Given the description of an element on the screen output the (x, y) to click on. 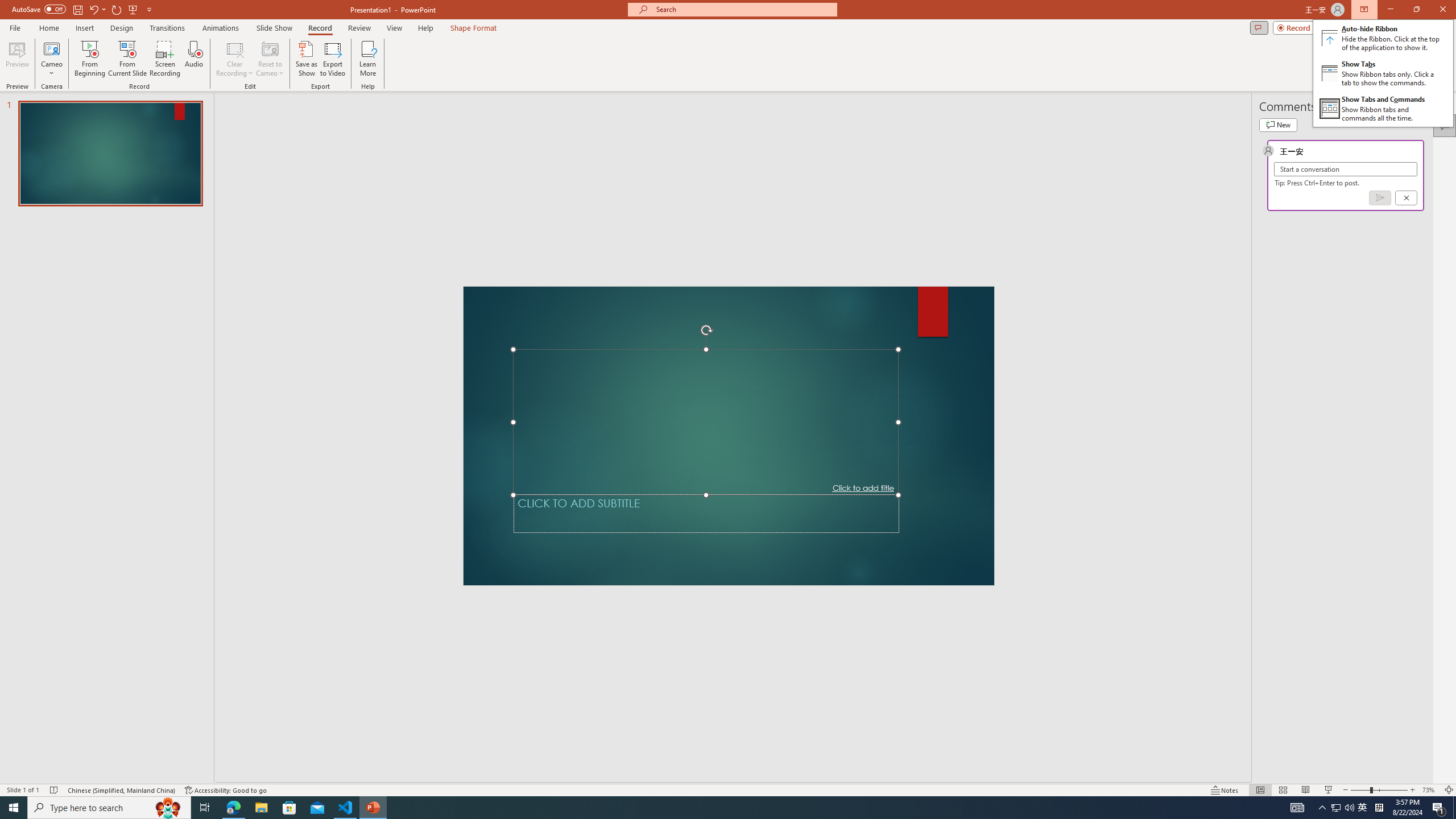
Clear Recording (234, 58)
Transitions (167, 28)
Microsoft Edge - 1 running window (233, 807)
Zoom In (1412, 790)
AutoSave (38, 9)
From Beginning... (89, 58)
Export to Video (332, 58)
Close (1442, 9)
Animations (220, 28)
Home (48, 28)
Ribbon Display Options (1383, 73)
Notification Chevron (1322, 807)
Redo (117, 9)
Ribbon Display Options (1364, 9)
Show desktop (1454, 807)
